Given the description of an element on the screen output the (x, y) to click on. 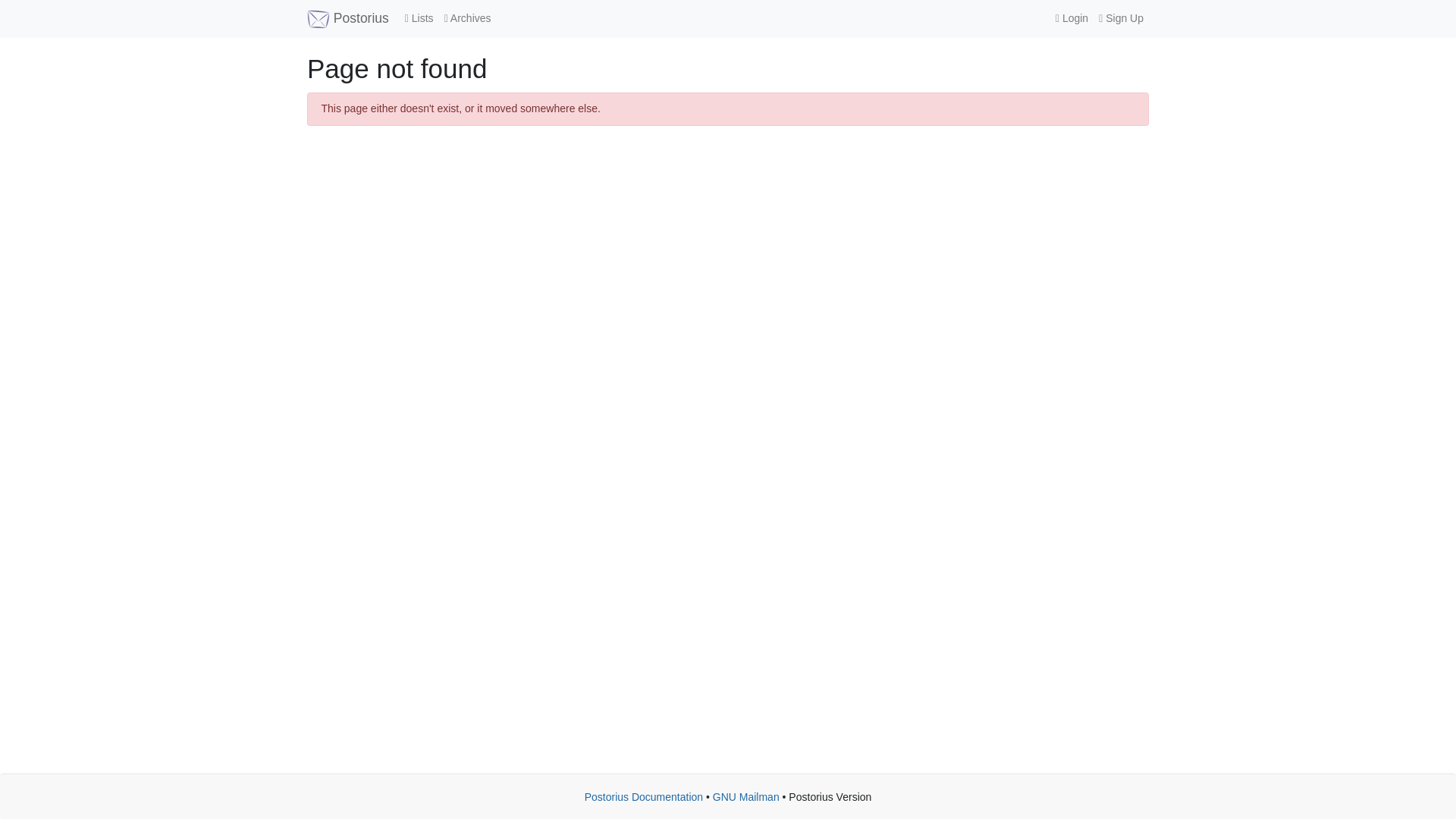
Login (1071, 17)
Lists (418, 17)
Archives (467, 17)
Sign Up (1120, 17)
Postorius (347, 18)
